Given the description of an element on the screen output the (x, y) to click on. 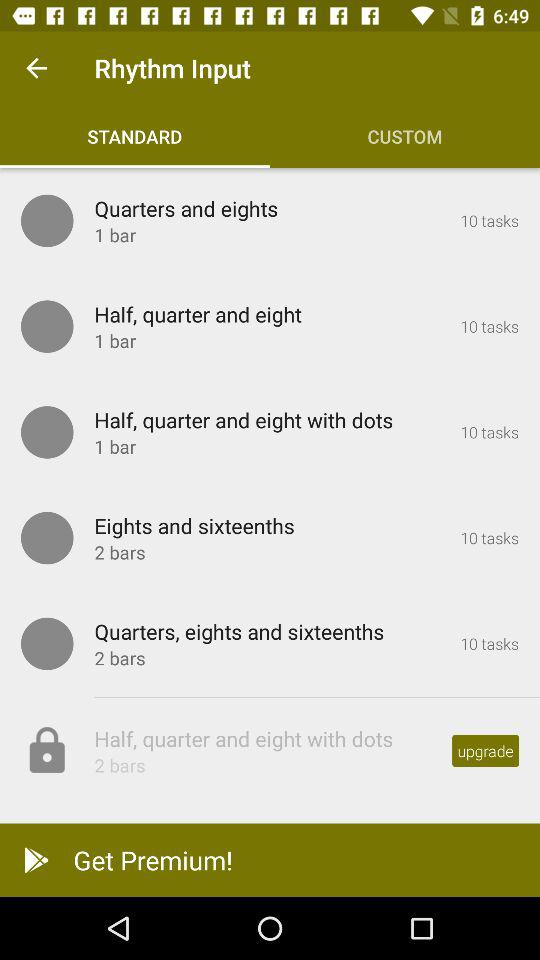
open the icon next to rhythm input icon (36, 68)
